Given the description of an element on the screen output the (x, y) to click on. 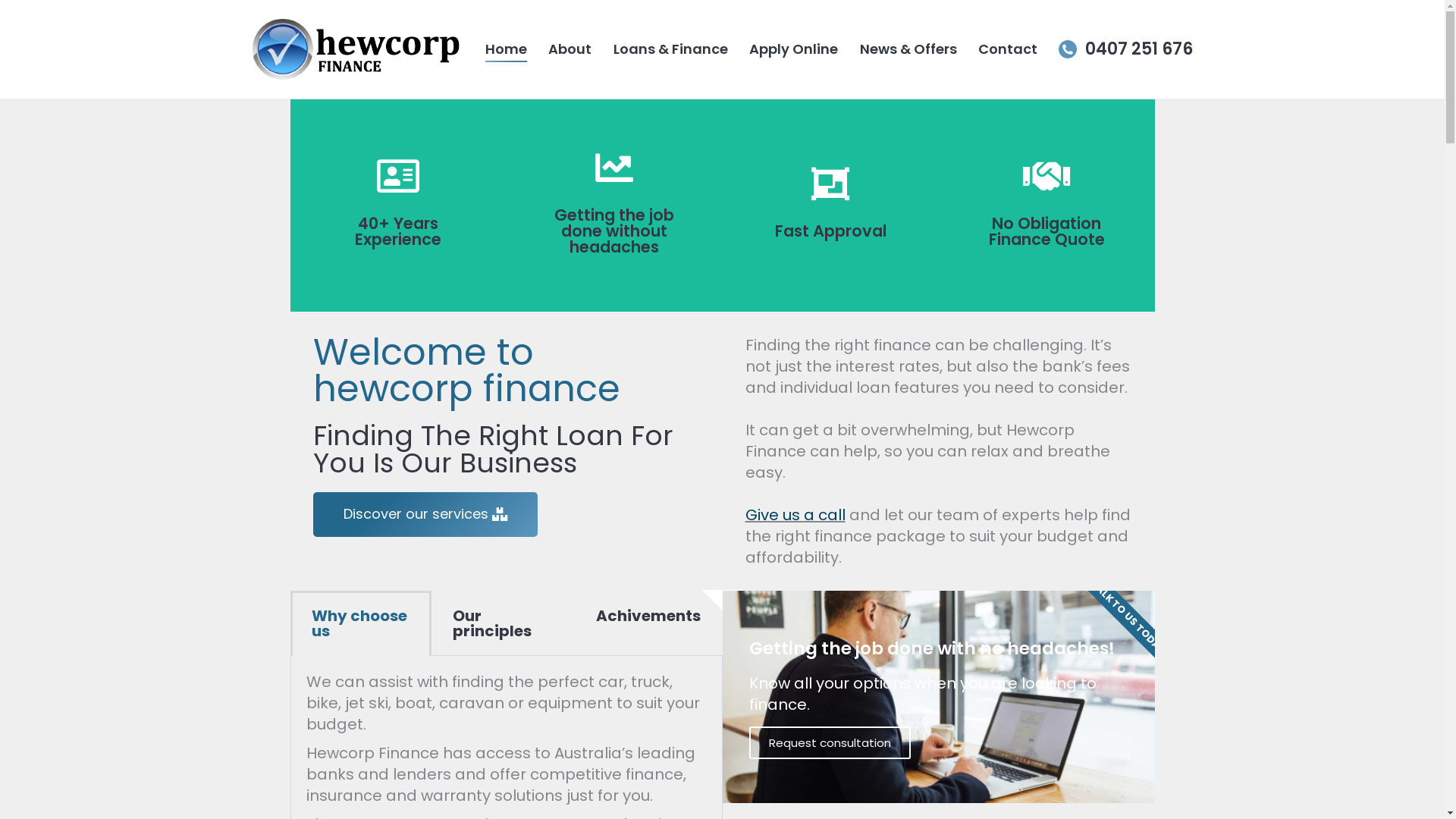
Home Element type: text (506, 48)
Give us a call Element type: text (794, 514)
0407 251 676 Element type: text (1124, 49)
News & Offers Element type: text (908, 48)
Request consultation Element type: text (829, 742)
Loans & Finance Element type: text (670, 48)
Contact Element type: text (1007, 48)
Apply Online Element type: text (793, 48)
About Element type: text (569, 48)
Discover our services Element type: text (424, 514)
